Given the description of an element on the screen output the (x, y) to click on. 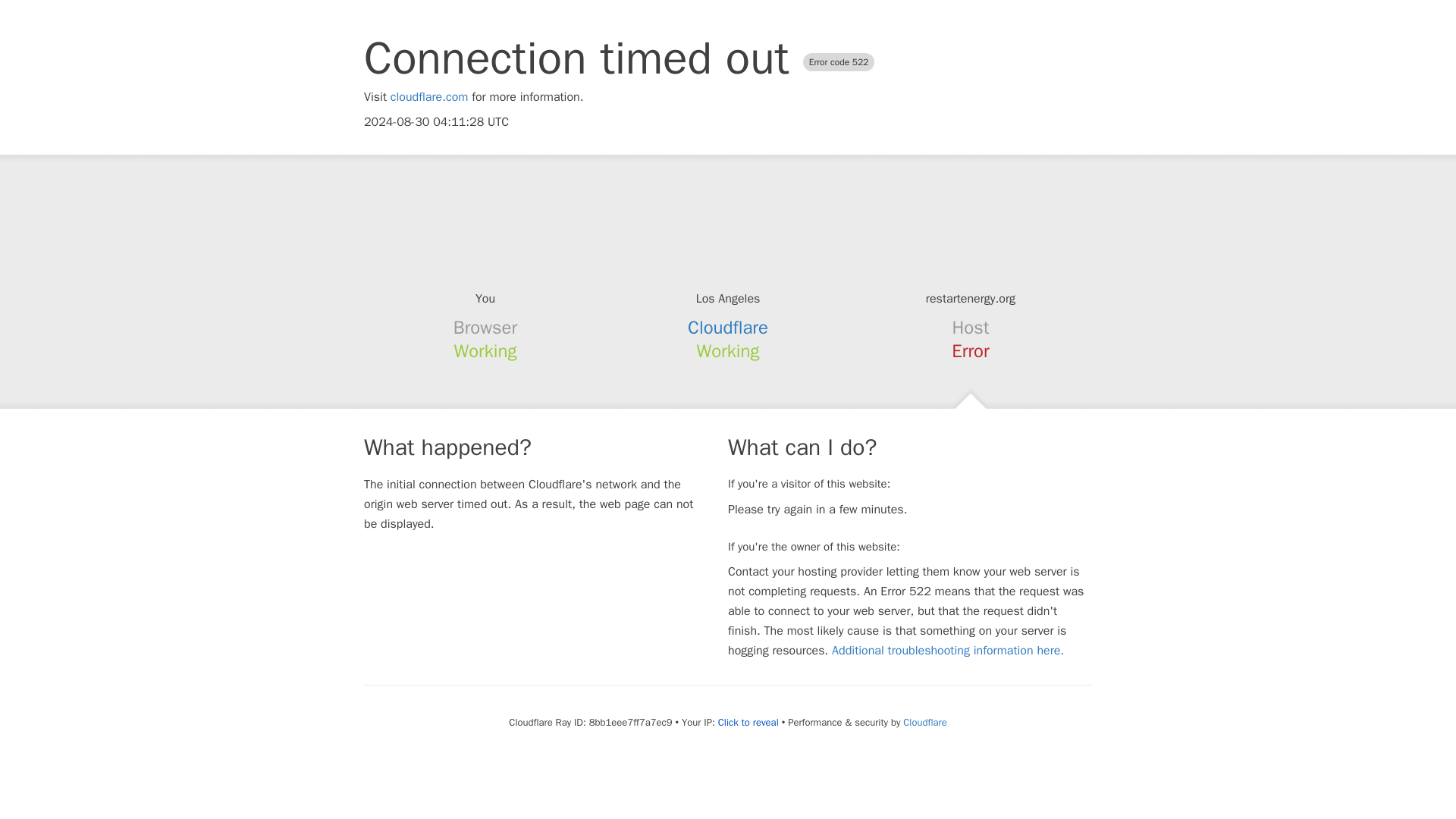
Click to reveal (747, 722)
Cloudflare (727, 327)
cloudflare.com (429, 96)
Cloudflare (924, 721)
Additional troubleshooting information here. (947, 650)
